Given the description of an element on the screen output the (x, y) to click on. 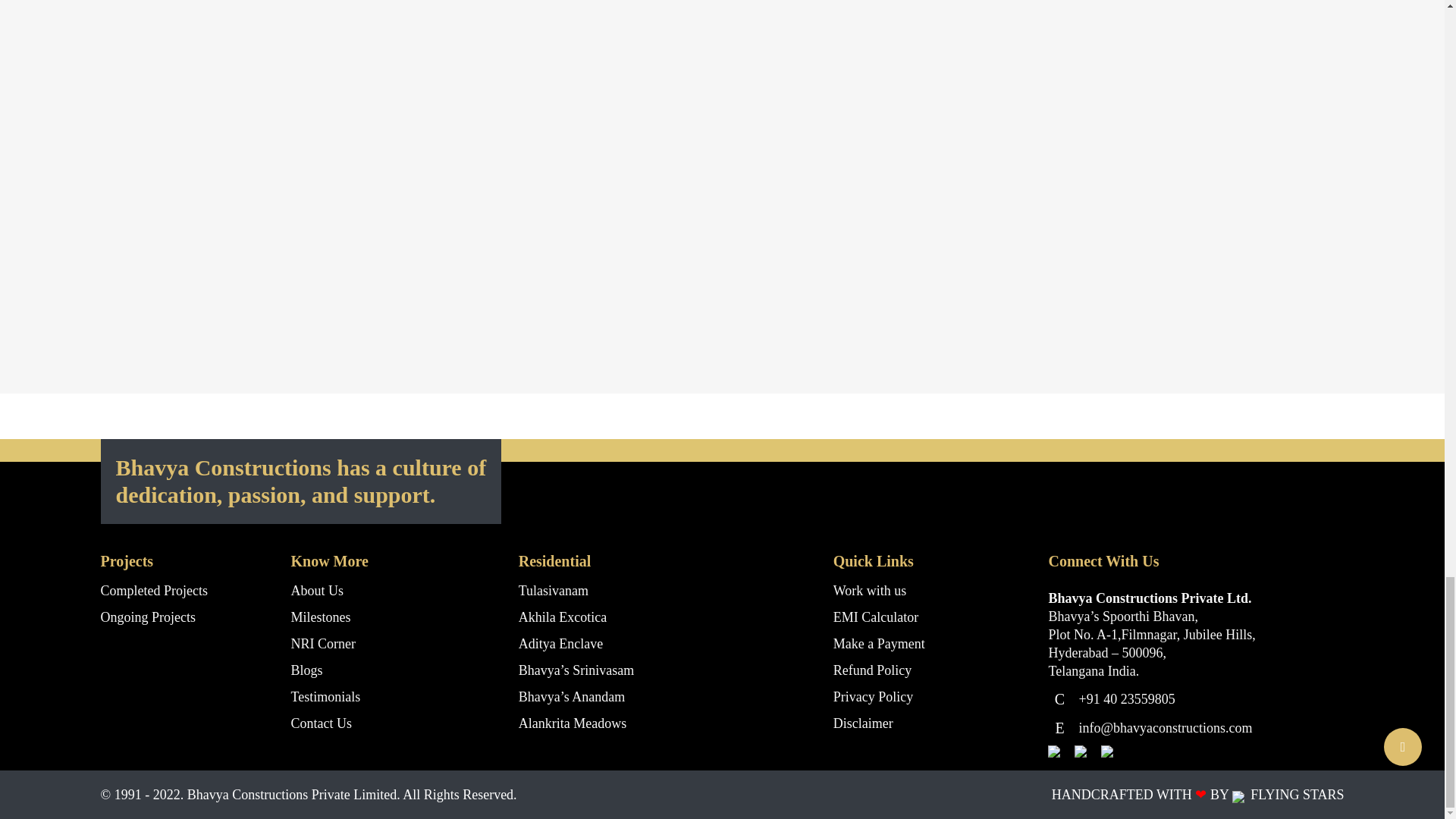
NRI Corner (323, 643)
Ongoing Projects (147, 616)
Tulasivanam (553, 590)
Contact Us (321, 723)
Testimonials (326, 696)
Blogs (307, 670)
Akhila Excotica (562, 616)
About Us (317, 590)
Milestones (320, 616)
Connect With Us (1360, 359)
